Given the description of an element on the screen output the (x, y) to click on. 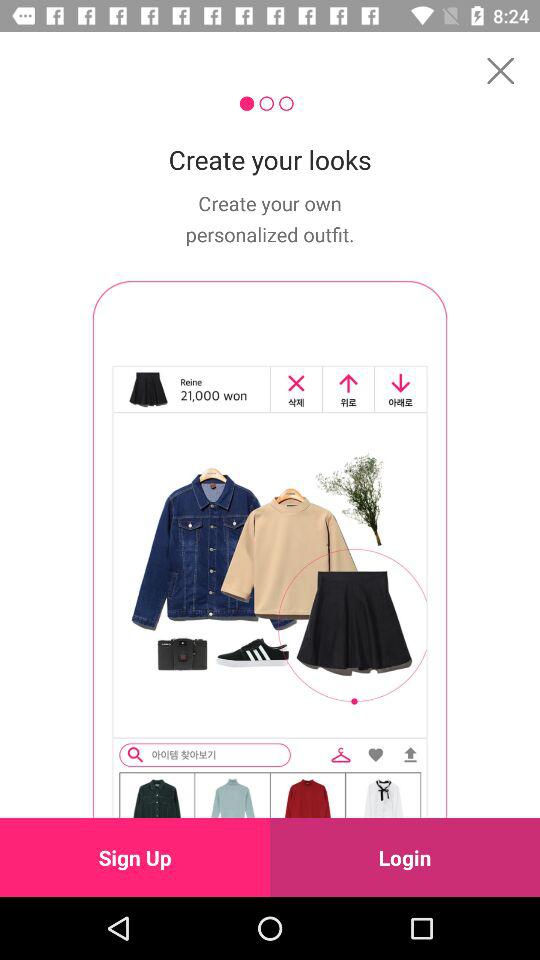
press the item at the top right corner (500, 70)
